Given the description of an element on the screen output the (x, y) to click on. 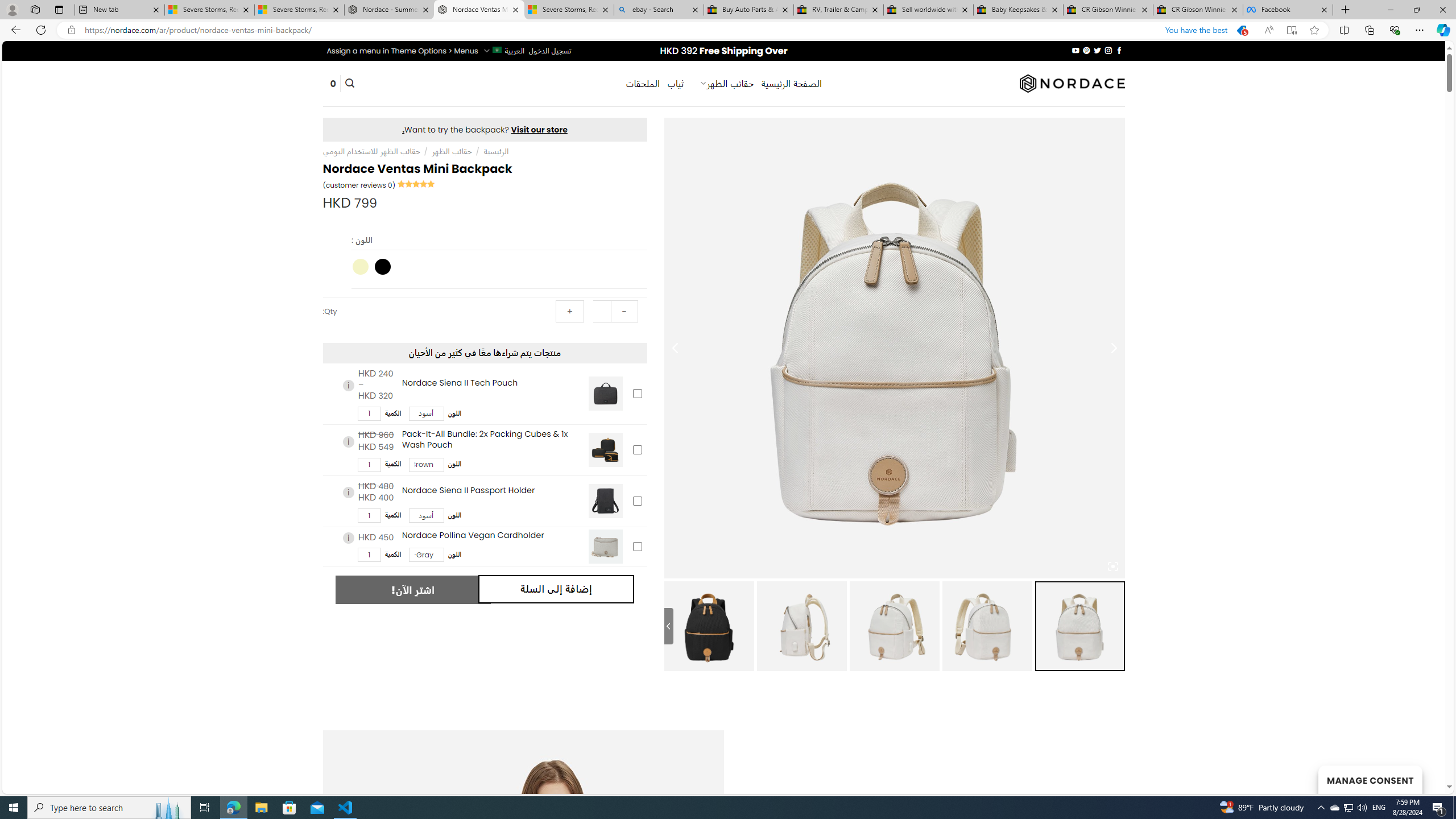
 0 (333, 83)
Nordace Siena II Tech Pouch (605, 393)
